Given the description of an element on the screen output the (x, y) to click on. 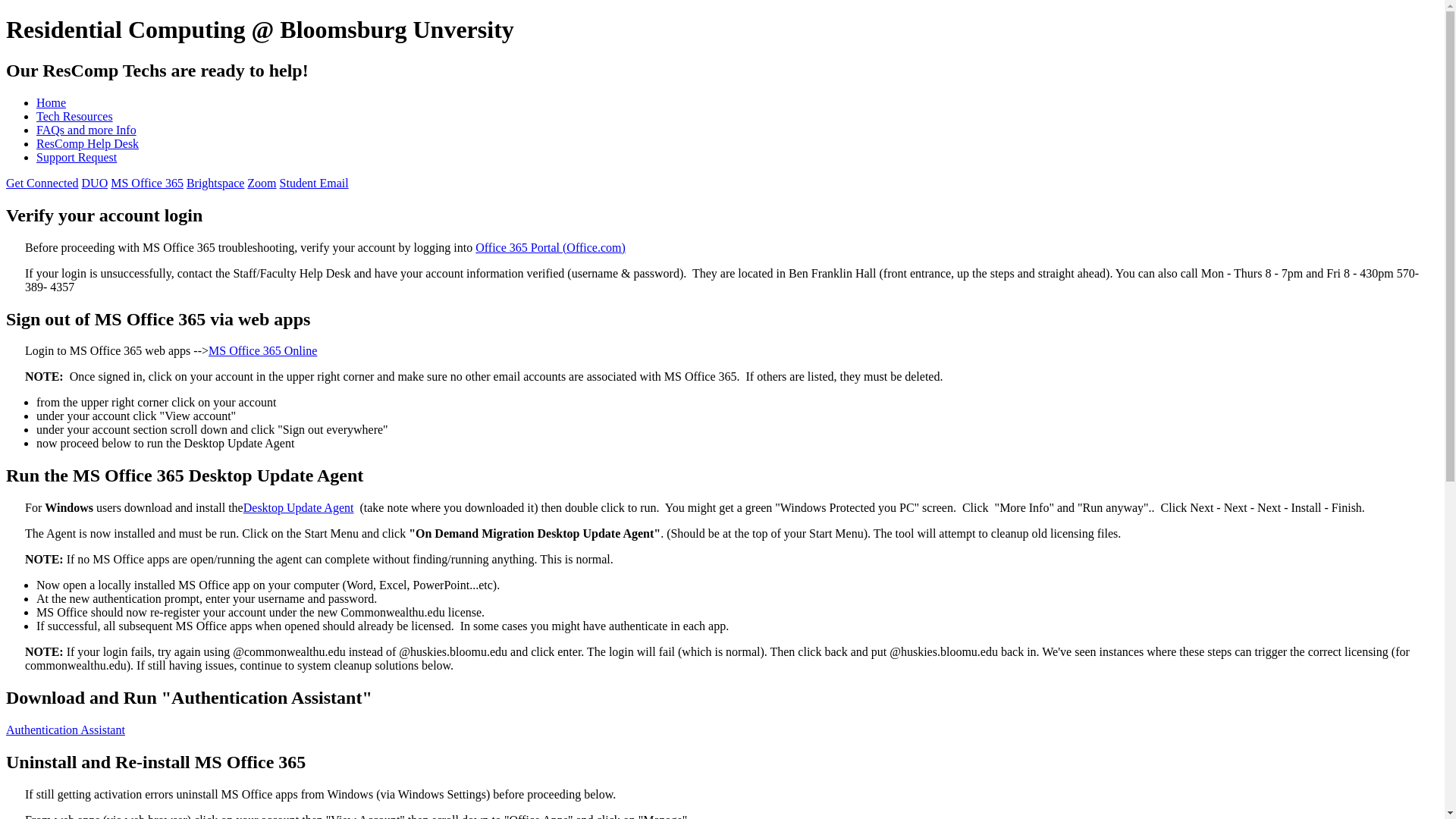
MS Office 365 Online (262, 350)
Home (50, 102)
Support Request (76, 156)
MS Office 365 (146, 182)
ResComp Help Desk (87, 143)
Authentication Assistant (65, 729)
Tech Resources (74, 115)
Brightspace (215, 182)
Desktop Update Agent (298, 507)
Student Email (314, 182)
